Given the description of an element on the screen output the (x, y) to click on. 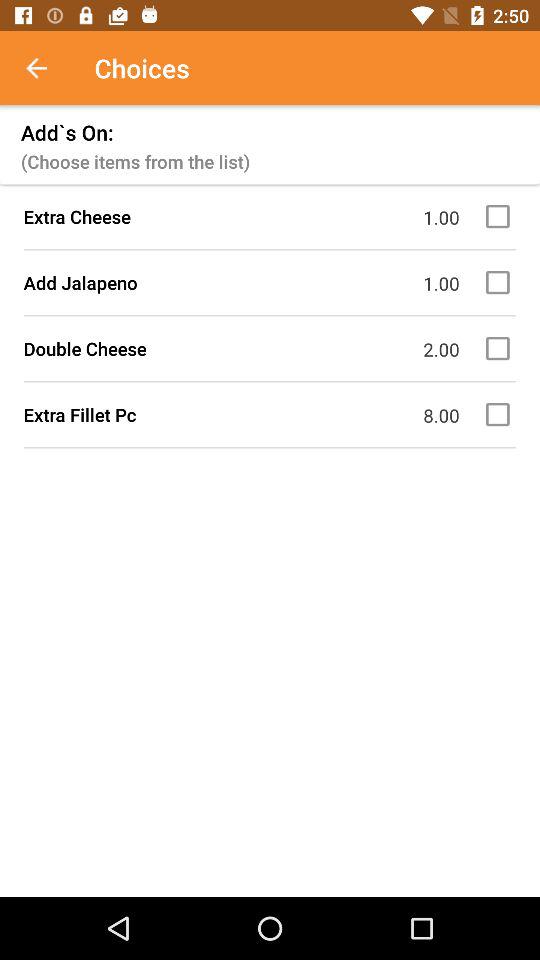
turn off icon to the left of the choices icon (47, 68)
